Given the description of an element on the screen output the (x, y) to click on. 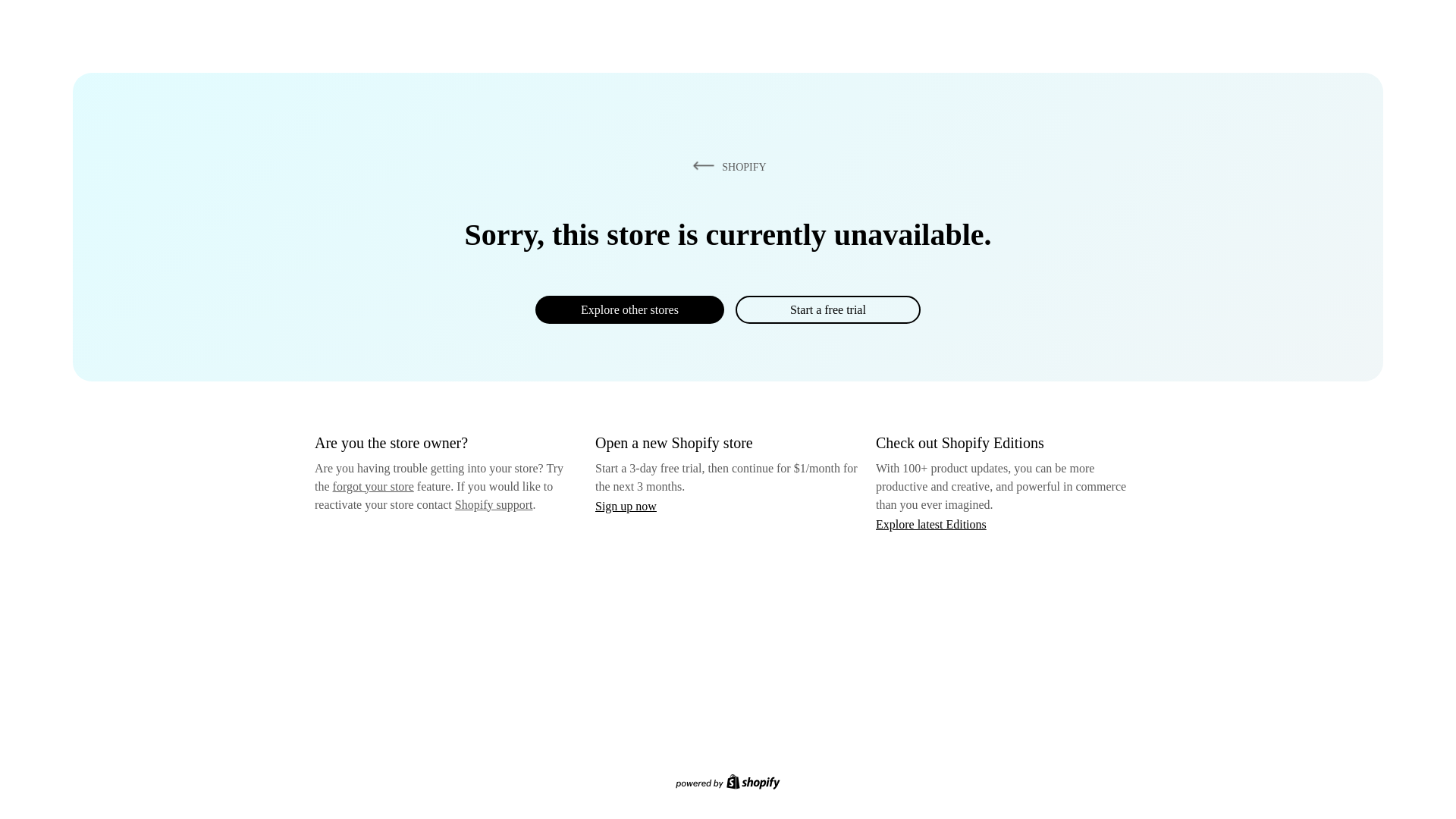
forgot your store (373, 486)
Start a free trial (827, 309)
Explore latest Editions (931, 523)
Sign up now (625, 505)
Shopify support (493, 504)
SHOPIFY (726, 166)
Explore other stores (629, 309)
